Given the description of an element on the screen output the (x, y) to click on. 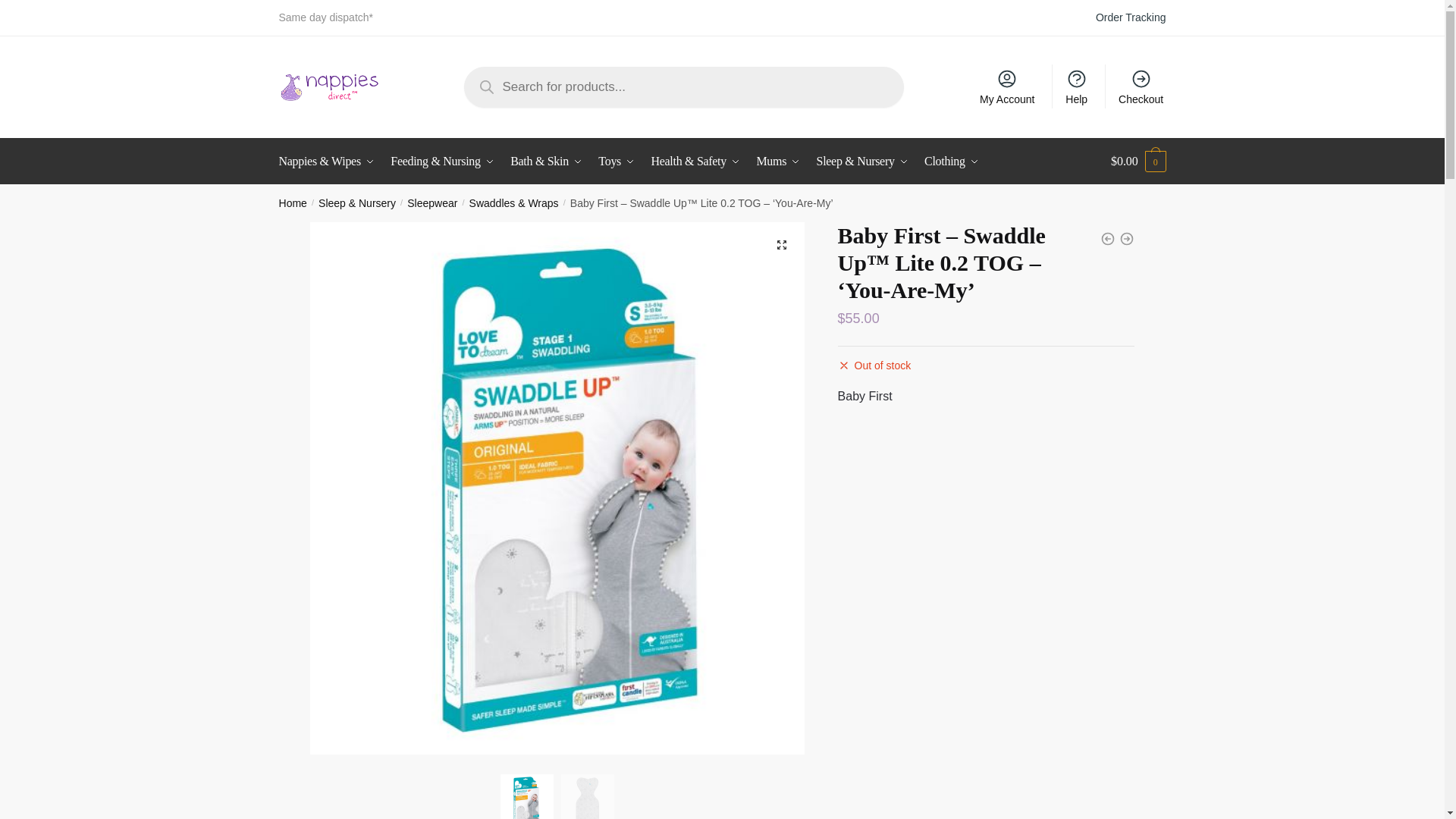
Help (1076, 86)
View your shopping cart (1138, 161)
View brand (865, 396)
Order Tracking (1131, 17)
My Account (1007, 86)
Checkout (1141, 86)
